Given the description of an element on the screen output the (x, y) to click on. 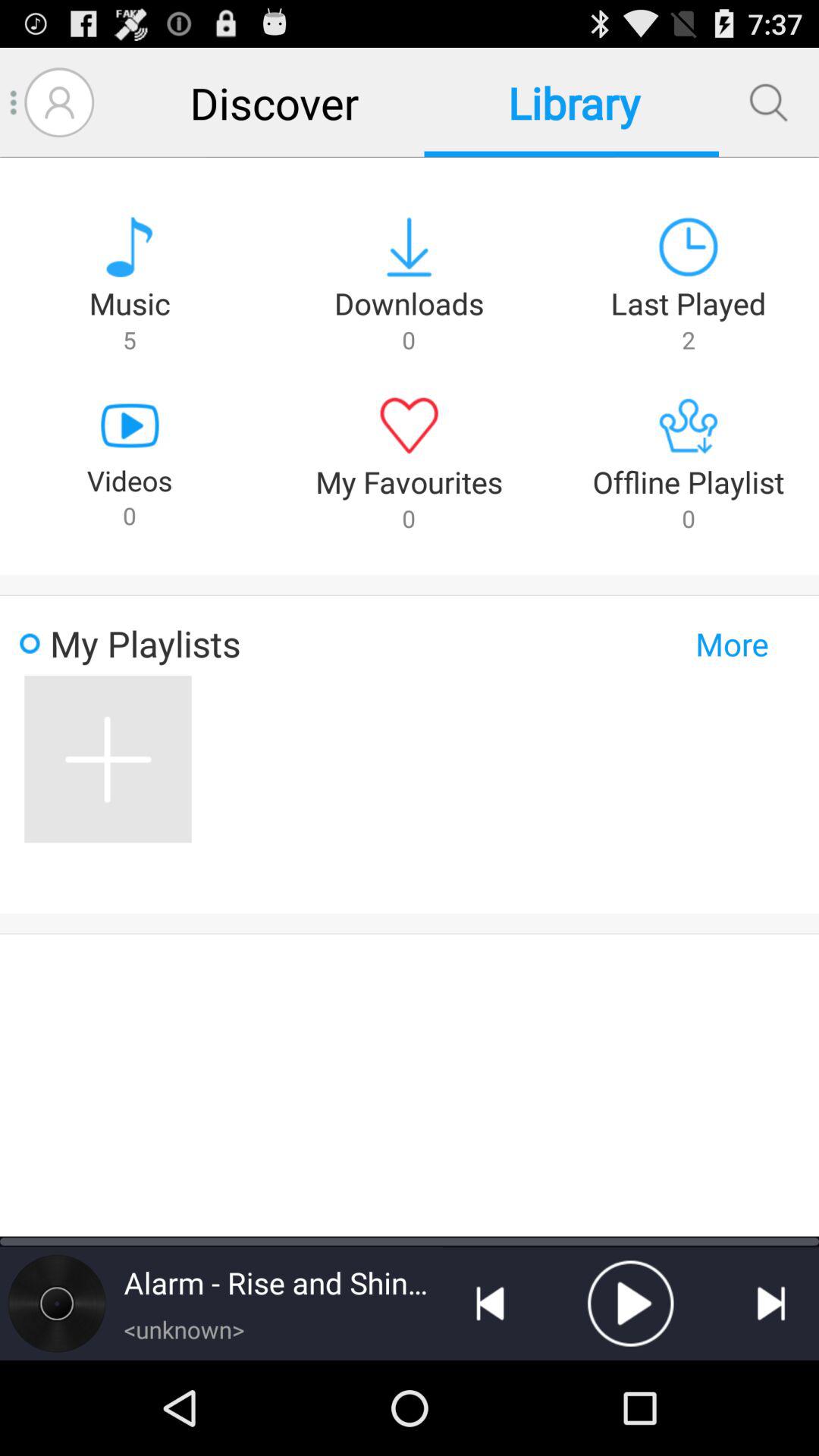
tap the item next to the alarm rise and (56, 1303)
